Given the description of an element on the screen output the (x, y) to click on. 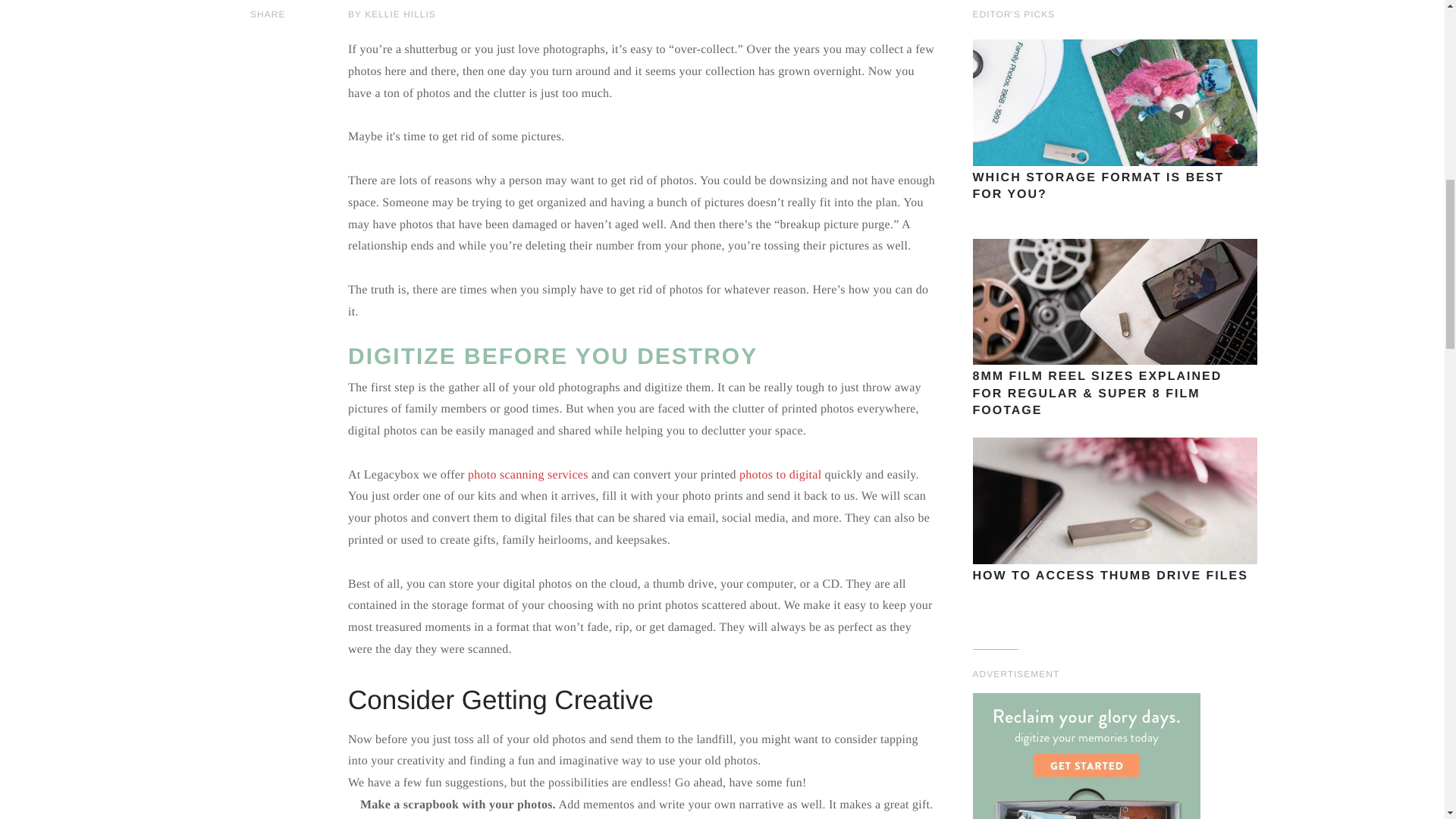
HOW TO ACCESS THUMB DRIVE FILES (1114, 500)
photos to digital (780, 474)
WHICH STORAGE FORMAT IS BEST FOR YOU? (1114, 102)
photo scanning services (526, 474)
